Given the description of an element on the screen output the (x, y) to click on. 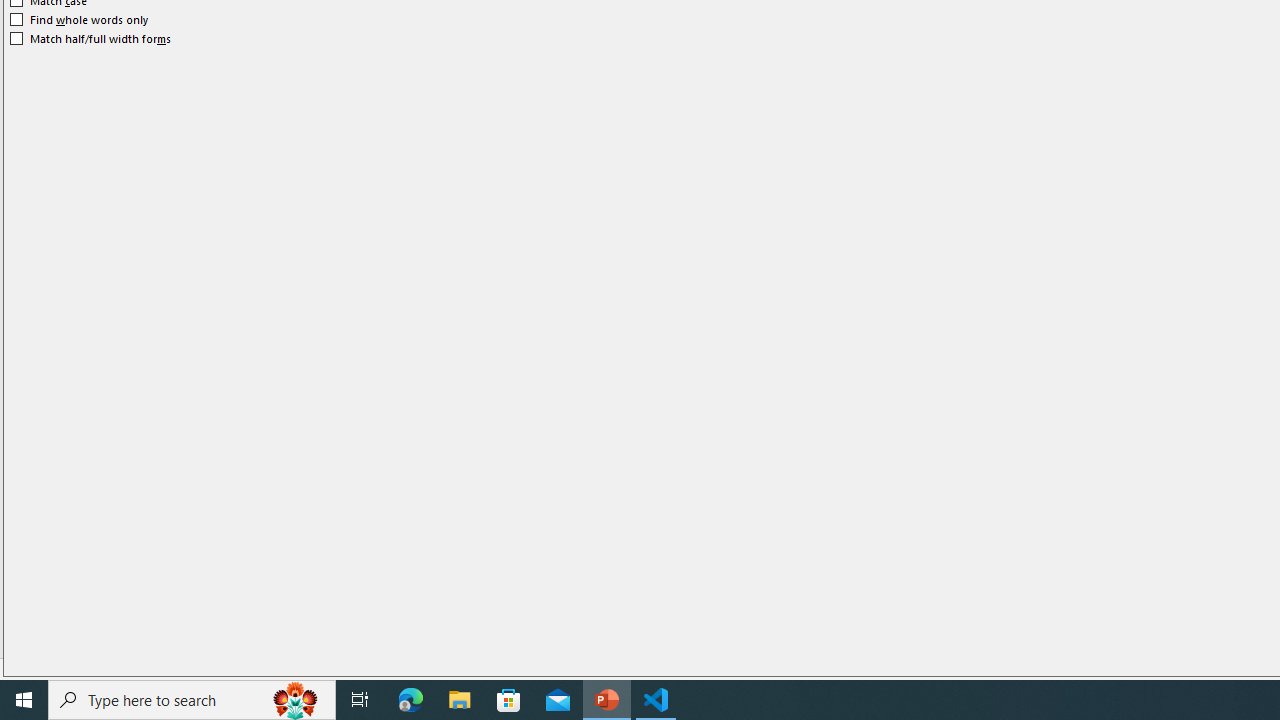
Match half/full width forms (91, 38)
Find whole words only (79, 20)
